Given the description of an element on the screen output the (x, y) to click on. 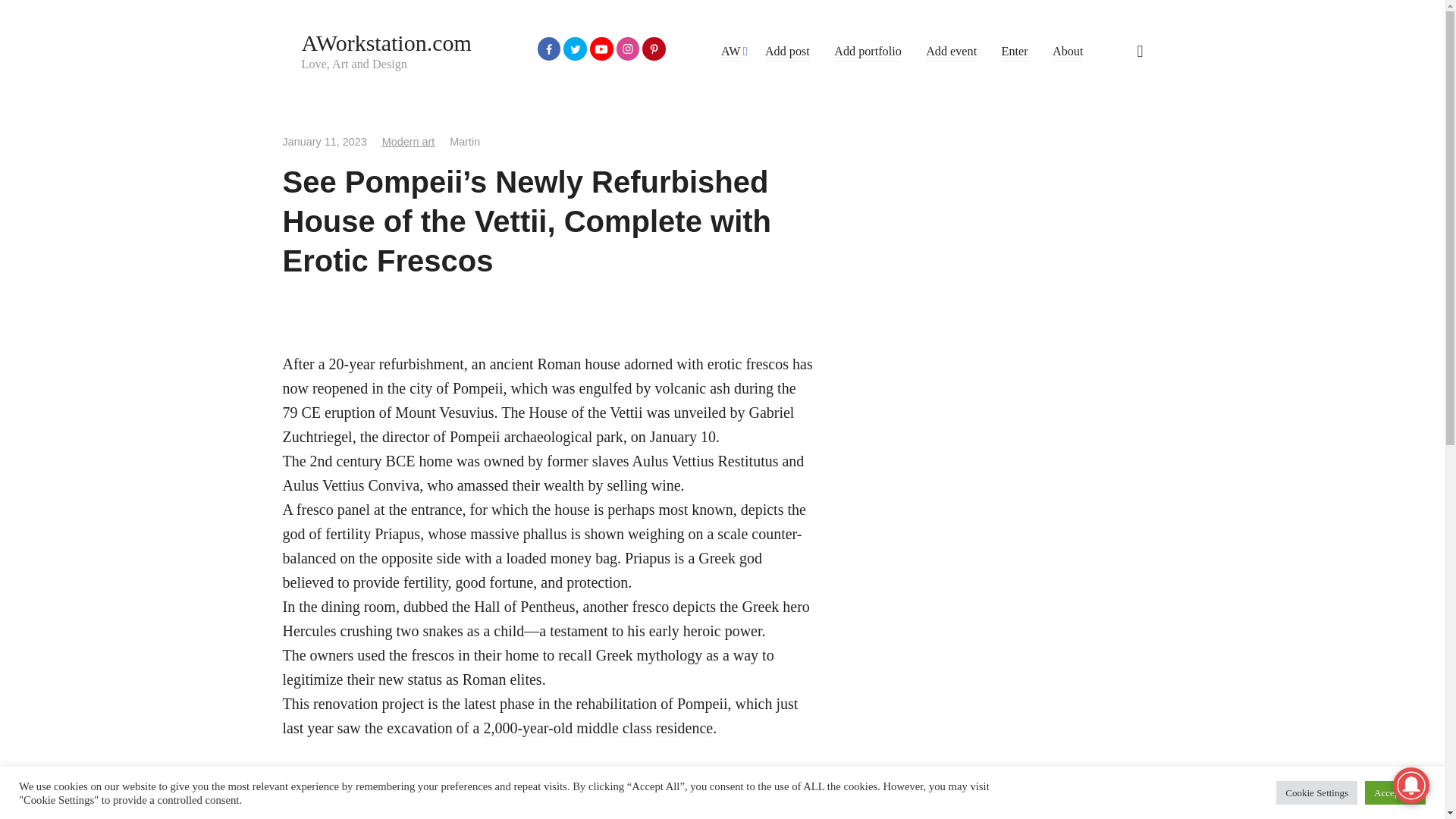
Add portfolio (867, 51)
Add post (787, 51)
About (1067, 51)
Add event (951, 51)
Youtube channel (559, 816)
AW (730, 51)
Enter (1014, 51)
Modern art (408, 141)
AWorkstation.com (386, 42)
2,000-year-old middle class residence (598, 727)
